Given the description of an element on the screen output the (x, y) to click on. 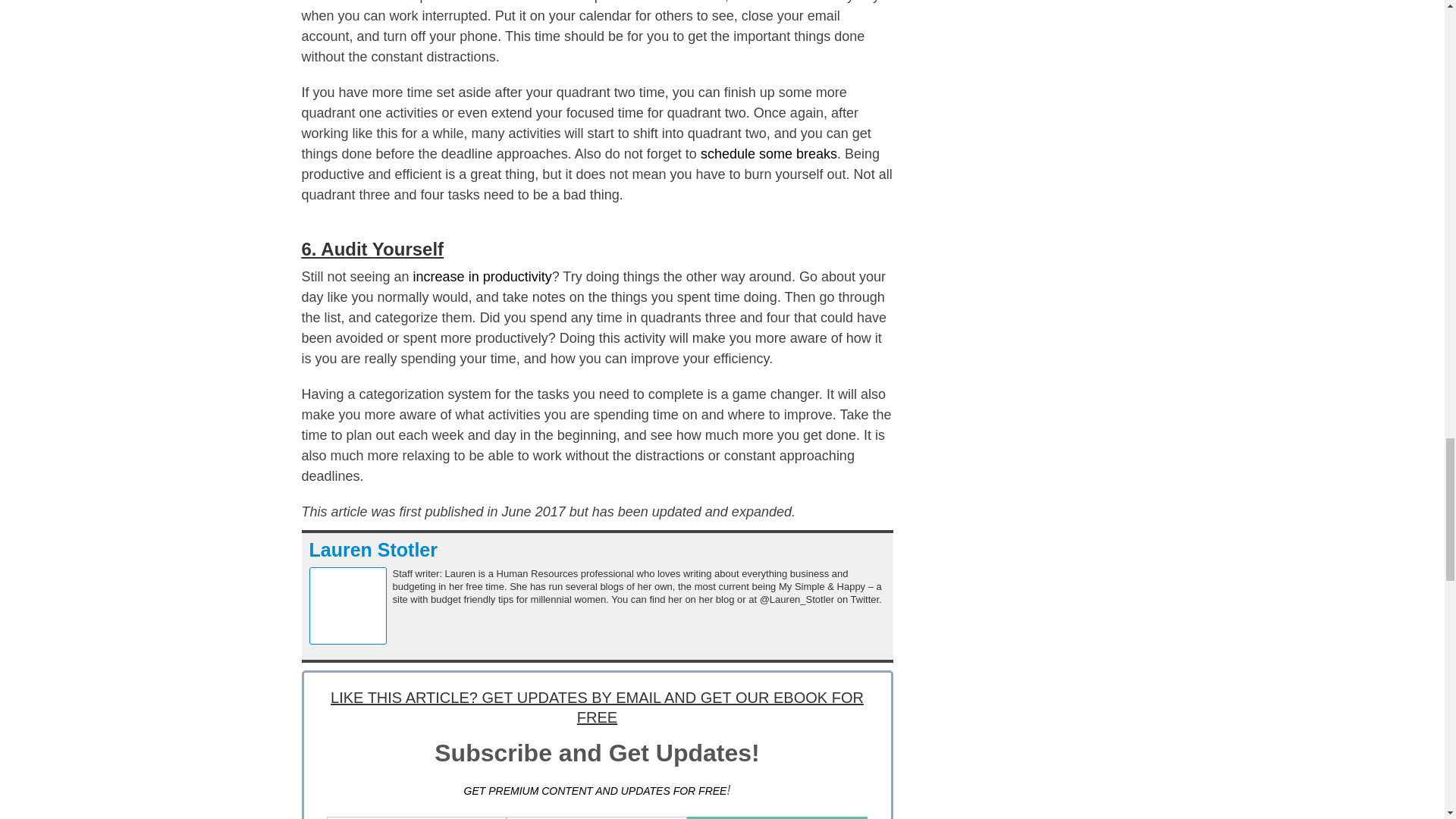
increase in productivity (482, 276)
Subscribe Now (777, 817)
Subscribe Now (777, 817)
schedule some breaks (768, 153)
Lauren Stotler (373, 549)
Lauren Stotler (373, 549)
